Given the description of an element on the screen output the (x, y) to click on. 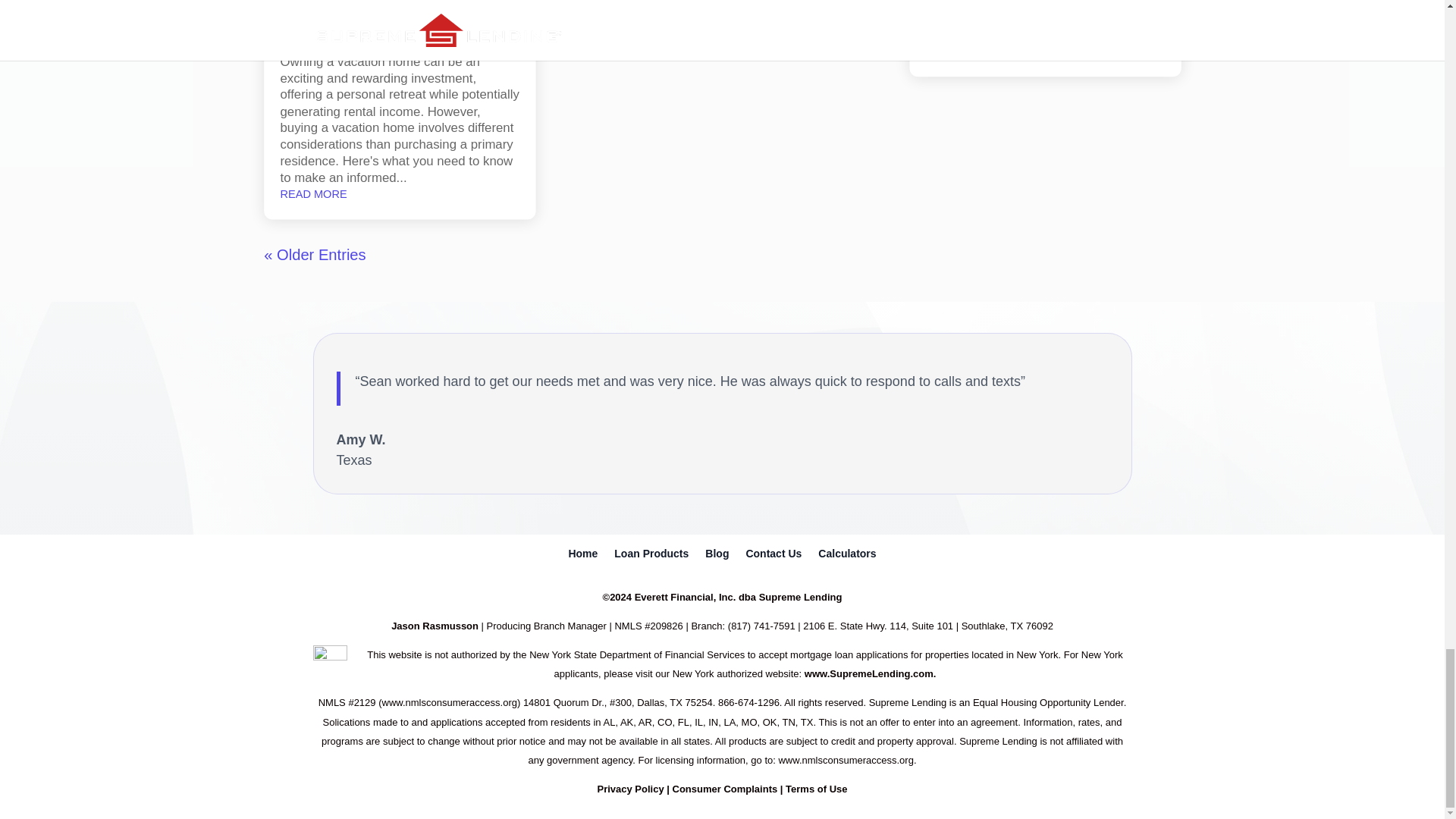
READ MORE (632, 14)
New Homes (381, 31)
Loan Products (651, 556)
Home (581, 556)
Homeownership (384, 25)
READ MORE (309, 193)
READ MORE (954, 50)
Contact Us (773, 556)
Calculators (847, 556)
Mortgage (456, 25)
Blog (716, 556)
The Ultimate Guide to Purchasing Your Dream Vacation Home (376, 4)
